Given the description of an element on the screen output the (x, y) to click on. 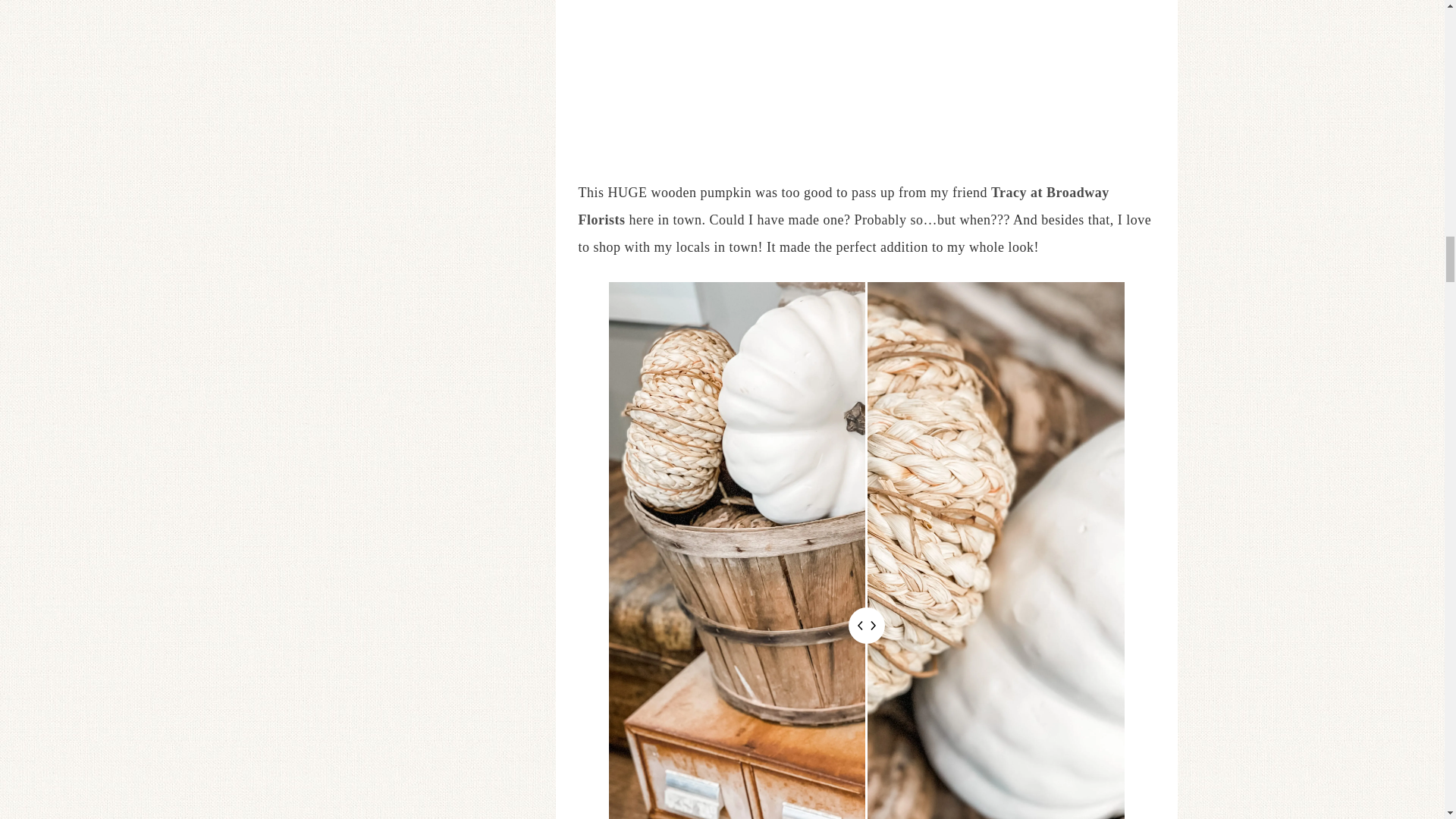
Tracy at Broadway Florists (843, 206)
